Given the description of an element on the screen output the (x, y) to click on. 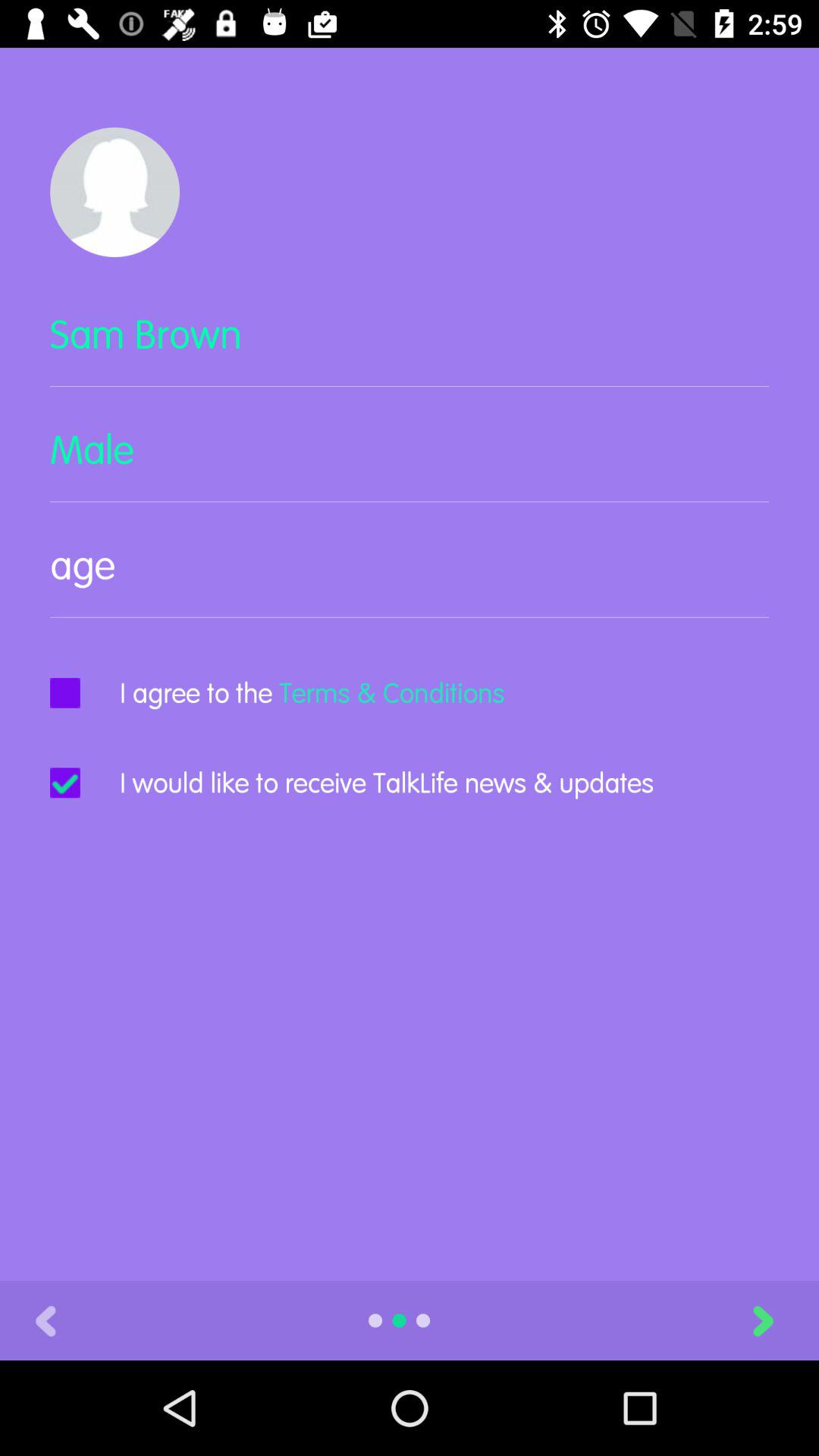
select item below i agree to icon (387, 782)
